Given the description of an element on the screen output the (x, y) to click on. 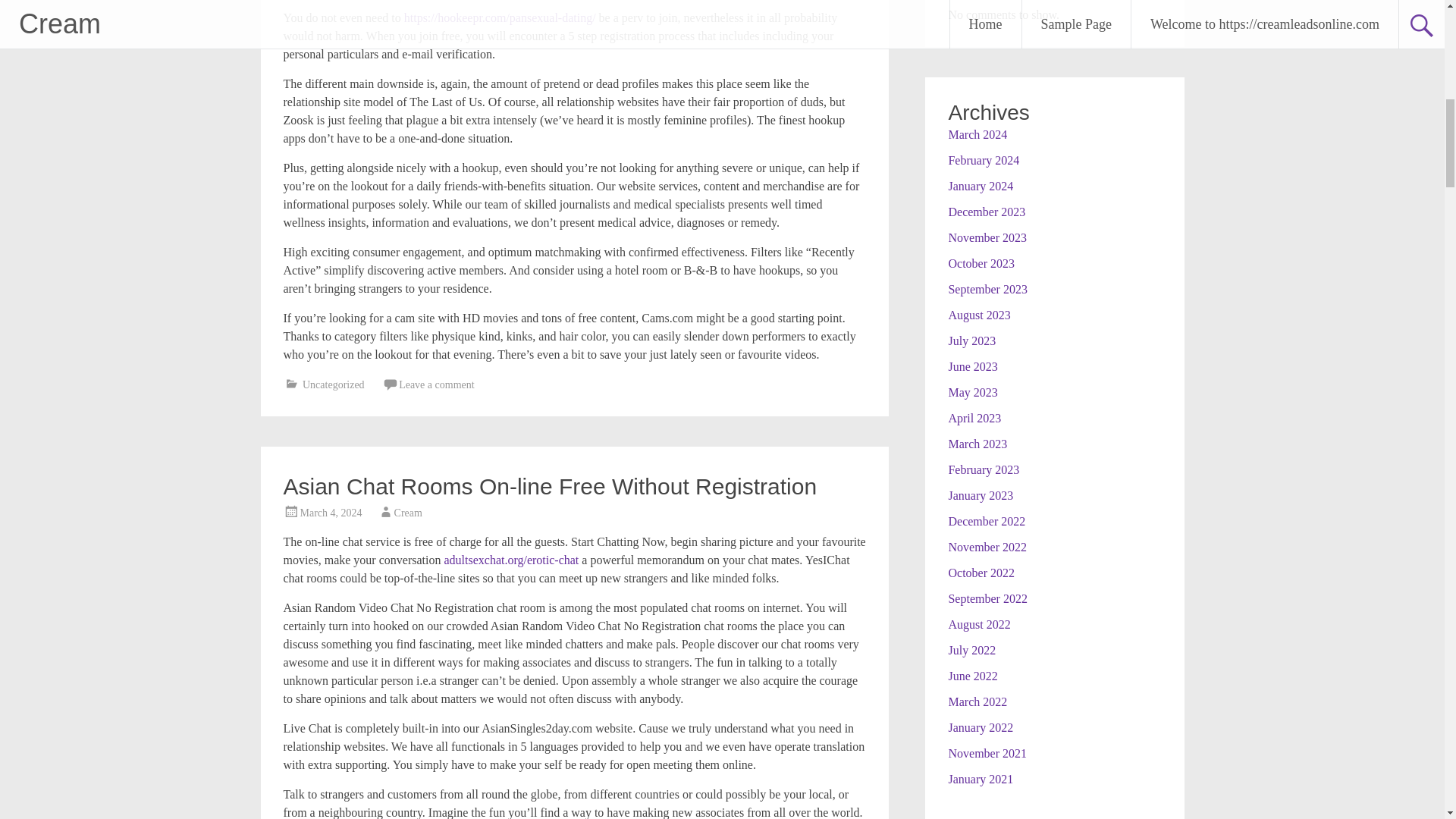
Uncategorized (333, 384)
March 4, 2024 (330, 512)
Asian Chat Rooms On-line Free Without Registration (549, 486)
Leave a comment (436, 384)
Cream (408, 512)
